Given the description of an element on the screen output the (x, y) to click on. 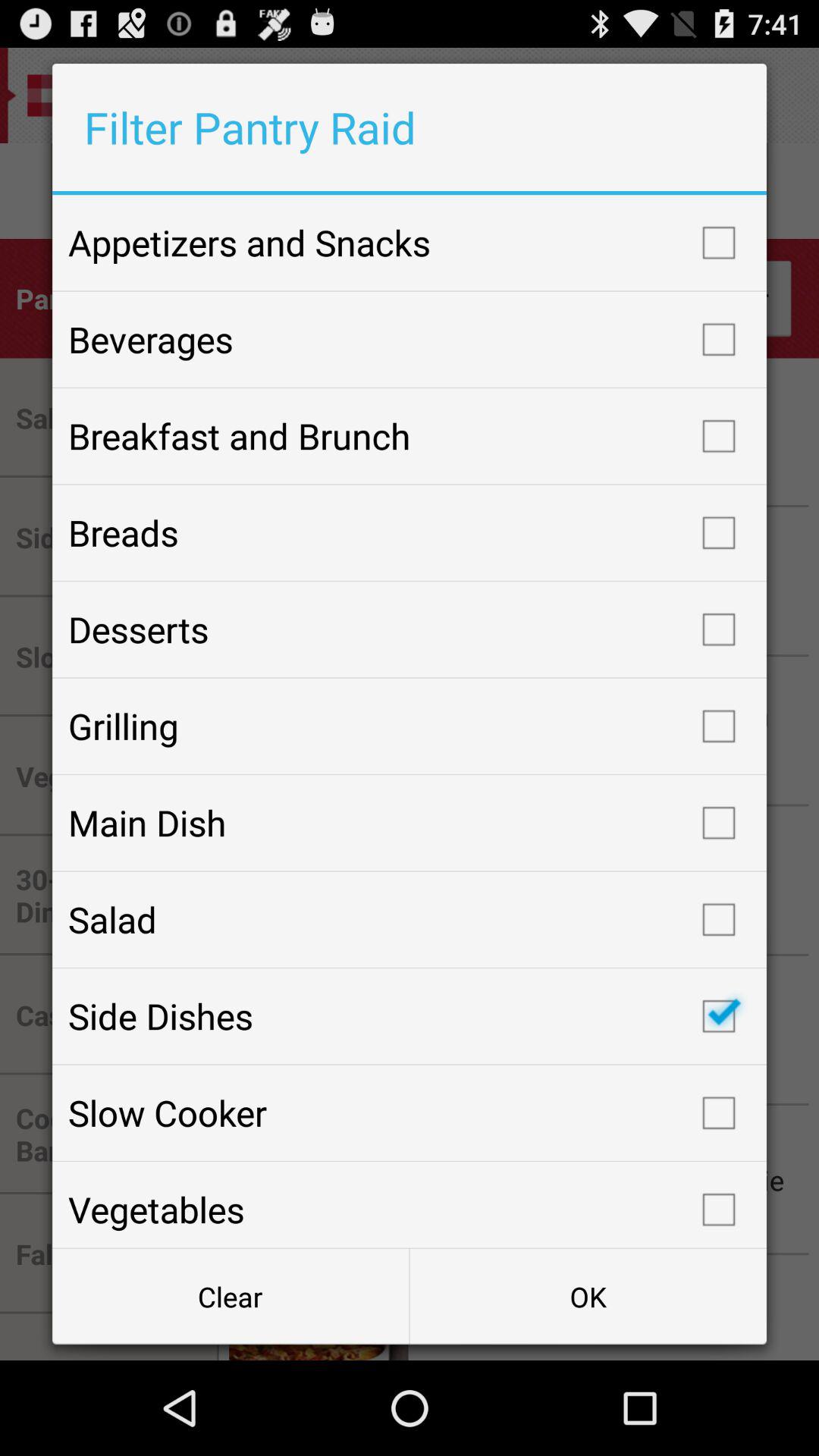
turn on item above main dish item (409, 726)
